Given the description of an element on the screen output the (x, y) to click on. 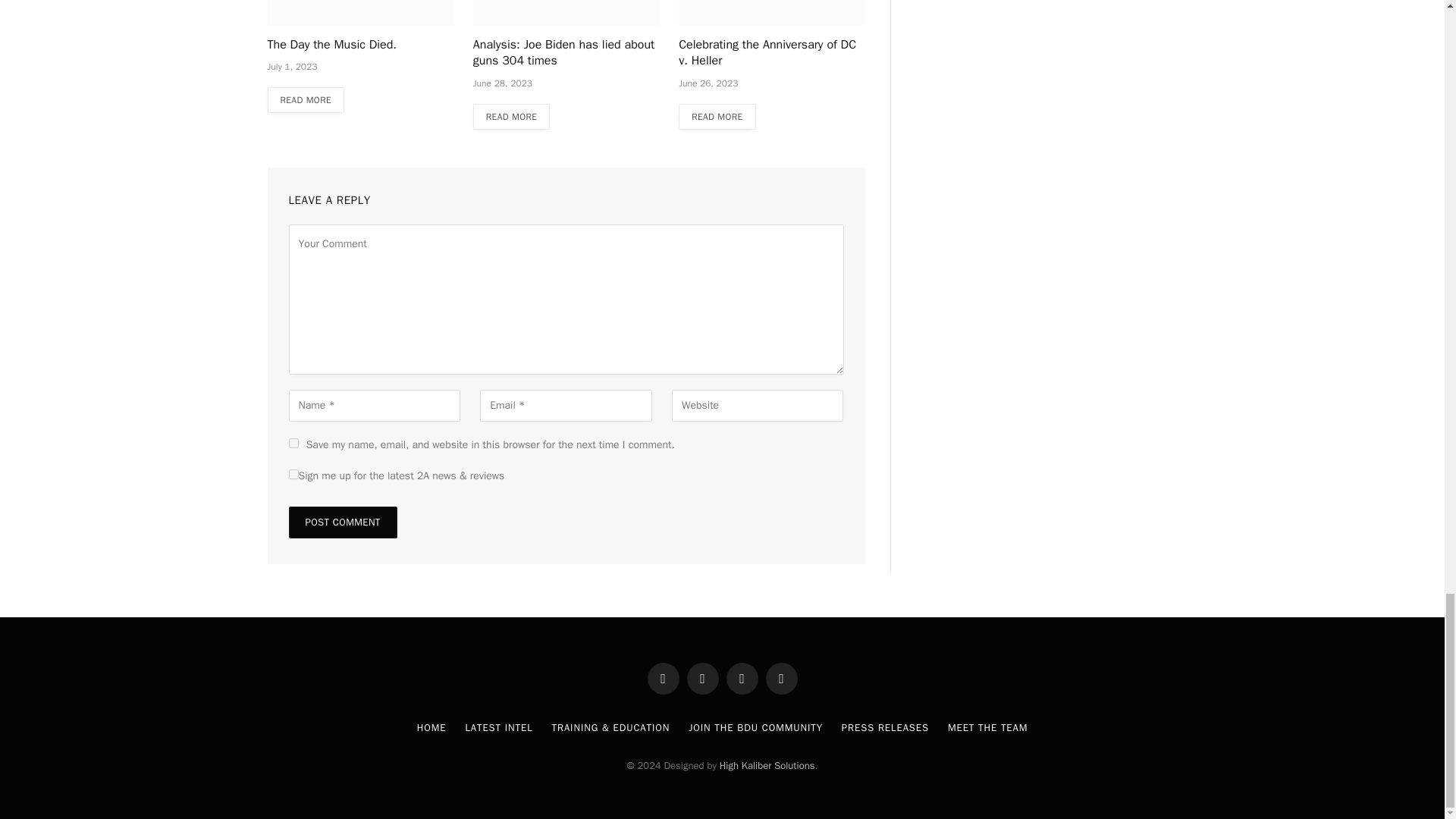
yes (293, 442)
1 (293, 474)
Post Comment (342, 522)
